Given the description of an element on the screen output the (x, y) to click on. 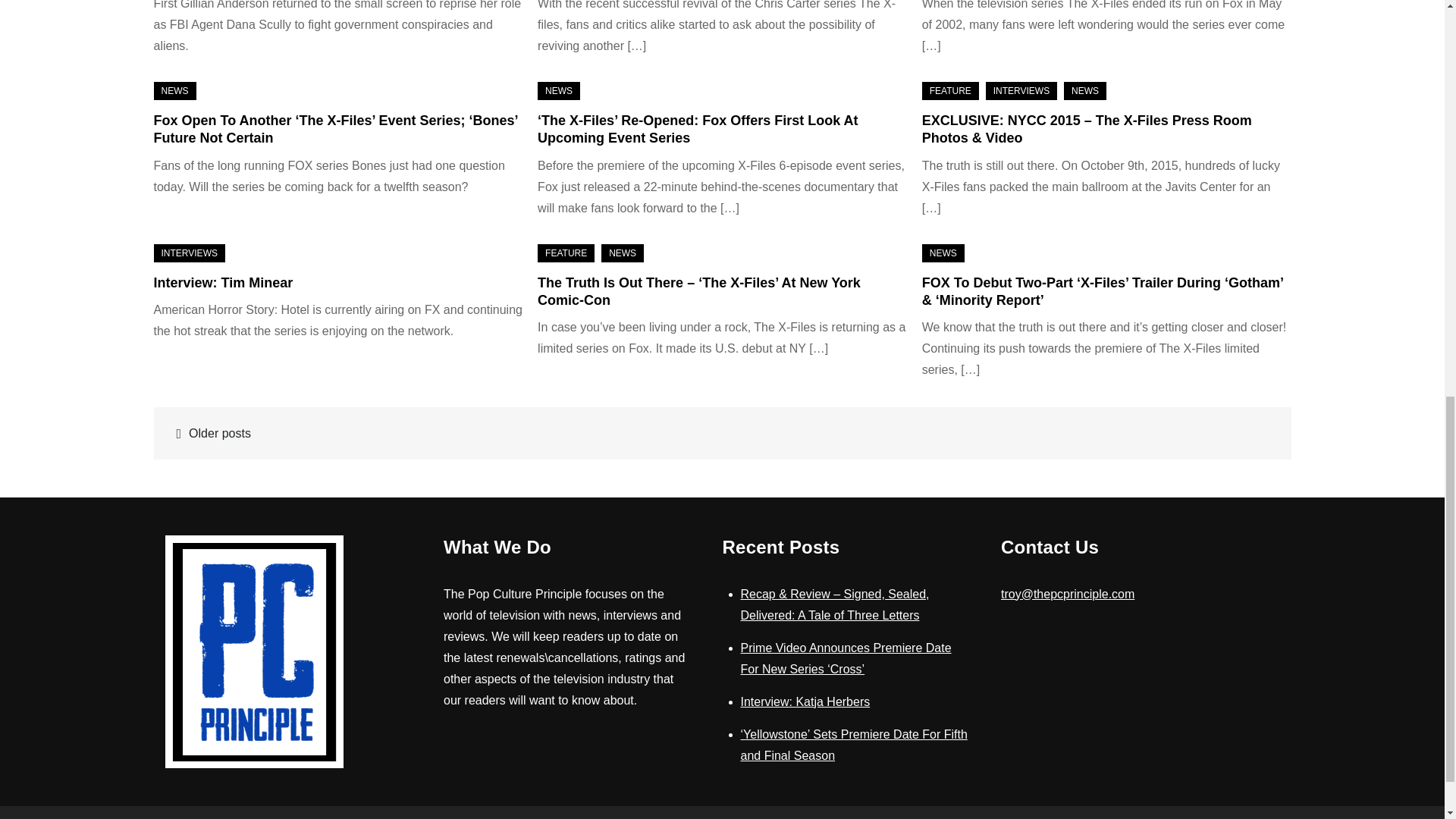
NEWS (558, 90)
INTERVIEWS (188, 253)
FEATURE (949, 90)
NEWS (173, 90)
INTERVIEWS (1021, 90)
NEWS (1085, 90)
